Given the description of an element on the screen output the (x, y) to click on. 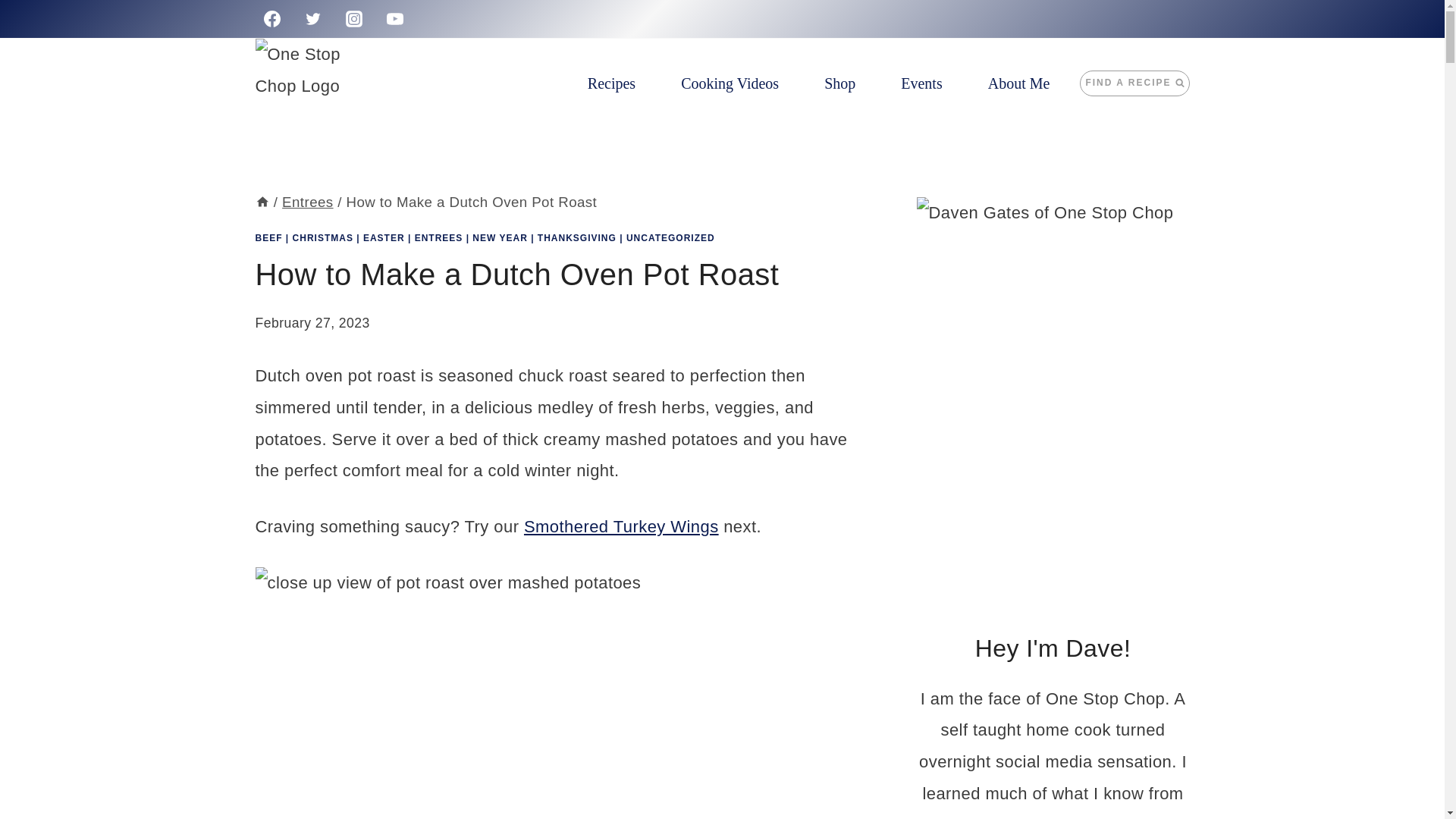
Recipes (611, 83)
BEEF (268, 237)
FIND A RECIPE (1134, 82)
CHRISTMAS (322, 237)
THANKSGIVING (576, 237)
Events (920, 83)
Home (261, 201)
UNCATEGORIZED (670, 237)
ENTREES (438, 237)
About Me (1019, 83)
Cooking Videos (730, 83)
Entrees (307, 201)
EASTER (383, 237)
NEW YEAR (499, 237)
